Given the description of an element on the screen output the (x, y) to click on. 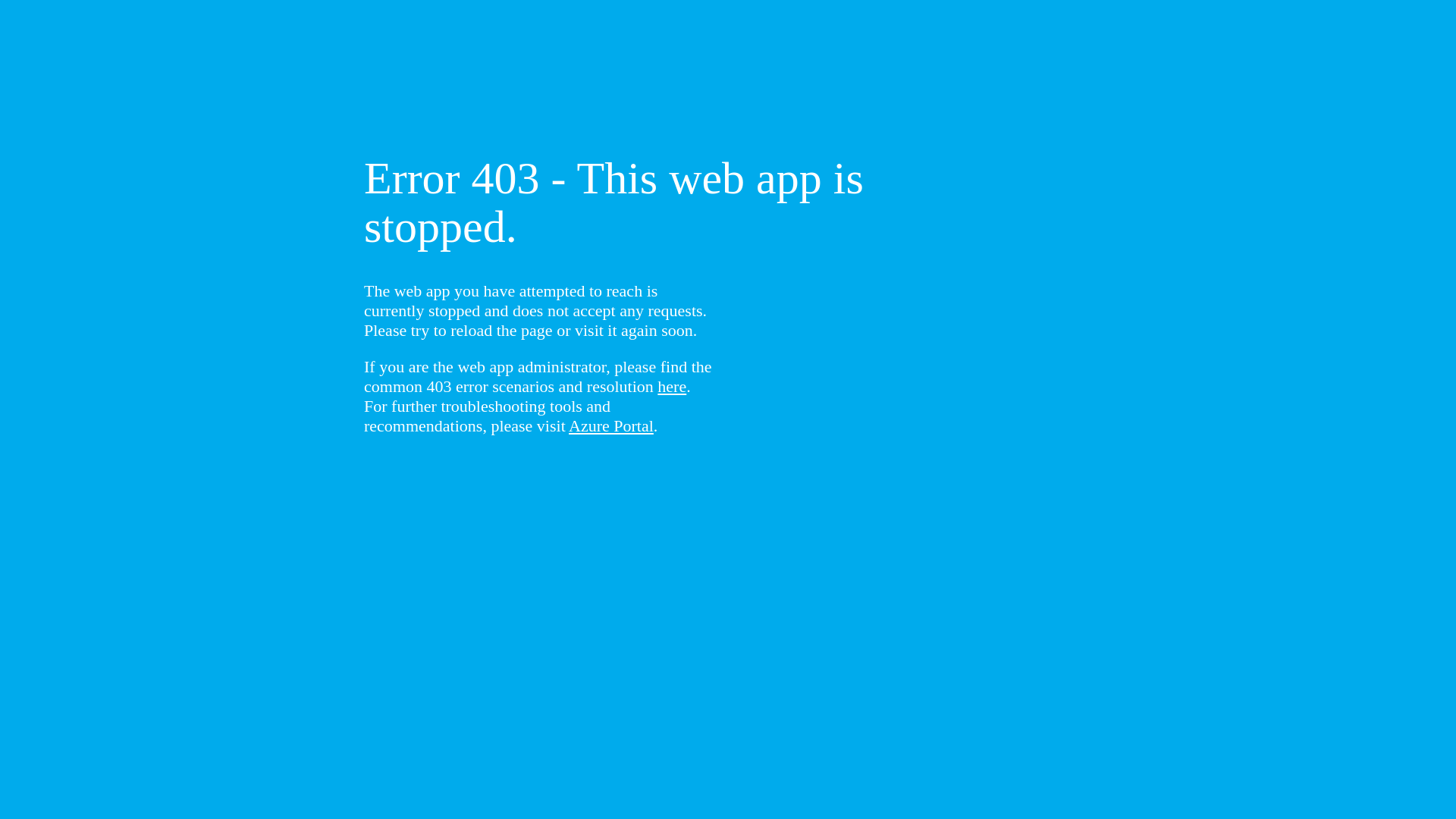
Azure Portal Element type: text (610, 425)
here Element type: text (671, 385)
